Given the description of an element on the screen output the (x, y) to click on. 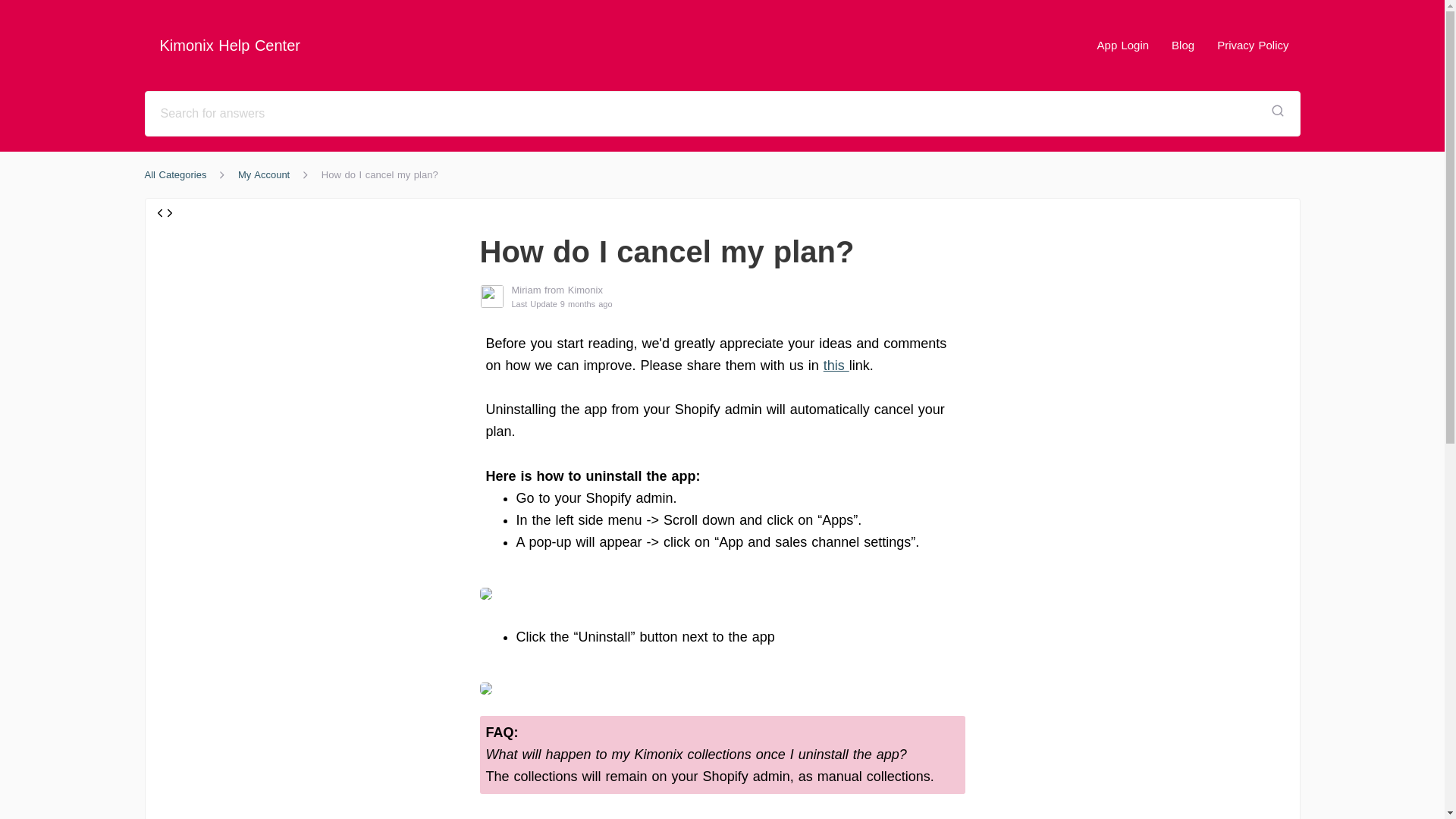
Blog (1182, 45)
Kimonix Help Center (229, 45)
this (836, 365)
App Login (1123, 45)
All Categories (175, 174)
Privacy Policy (1252, 45)
My Account (263, 174)
